Given the description of an element on the screen output the (x, y) to click on. 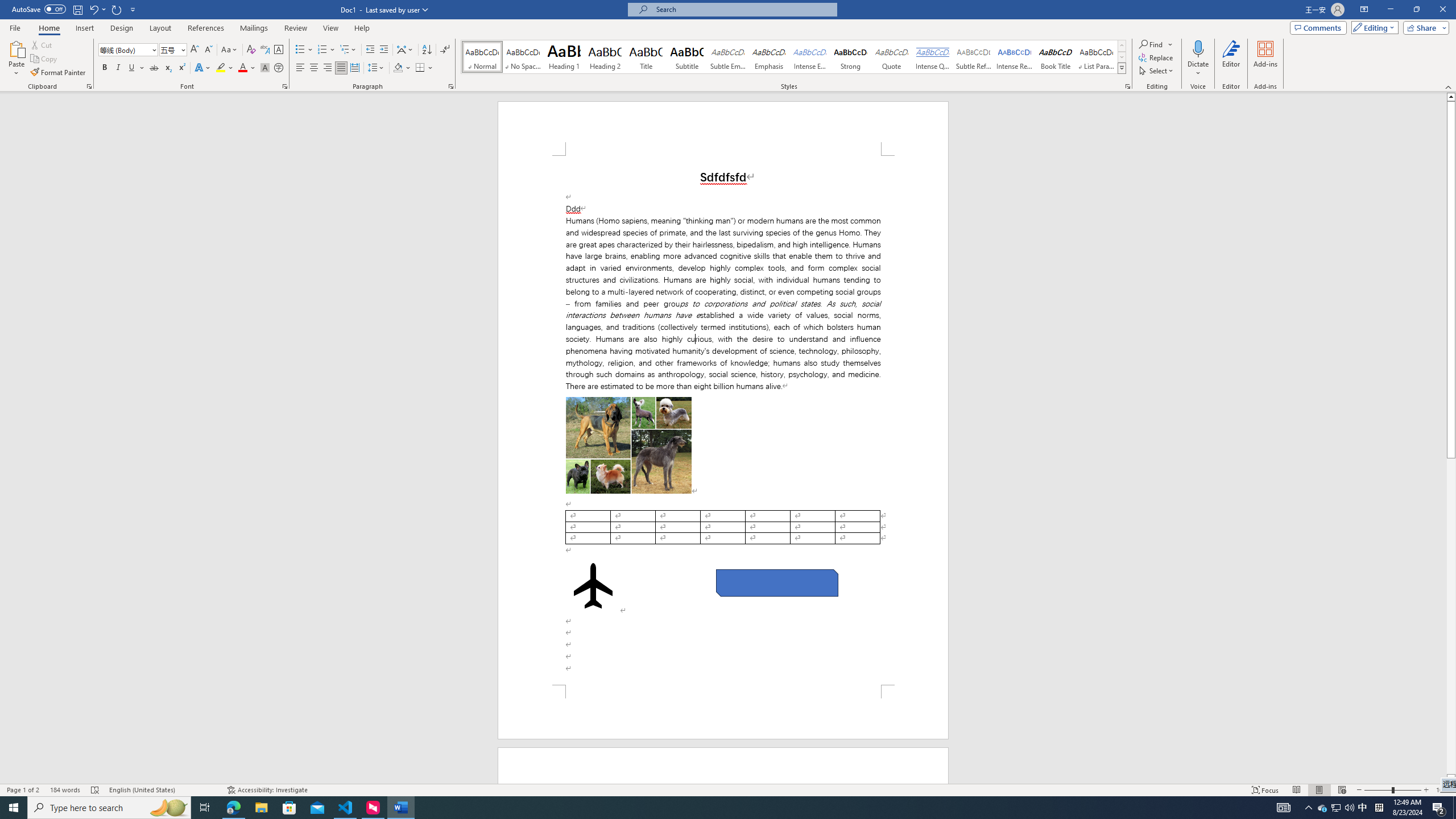
Multilevel List (347, 49)
Text Effects and Typography (202, 67)
Increase Indent (383, 49)
Language English (United States) (162, 790)
Replace... (1156, 56)
Microsoft search (742, 9)
Format Painter (58, 72)
Zoom (1392, 790)
Zoom 100% (1443, 790)
Font Color RGB(255, 0, 0) (241, 67)
Page Number Page 1 of 2 (22, 790)
